Given the description of an element on the screen output the (x, y) to click on. 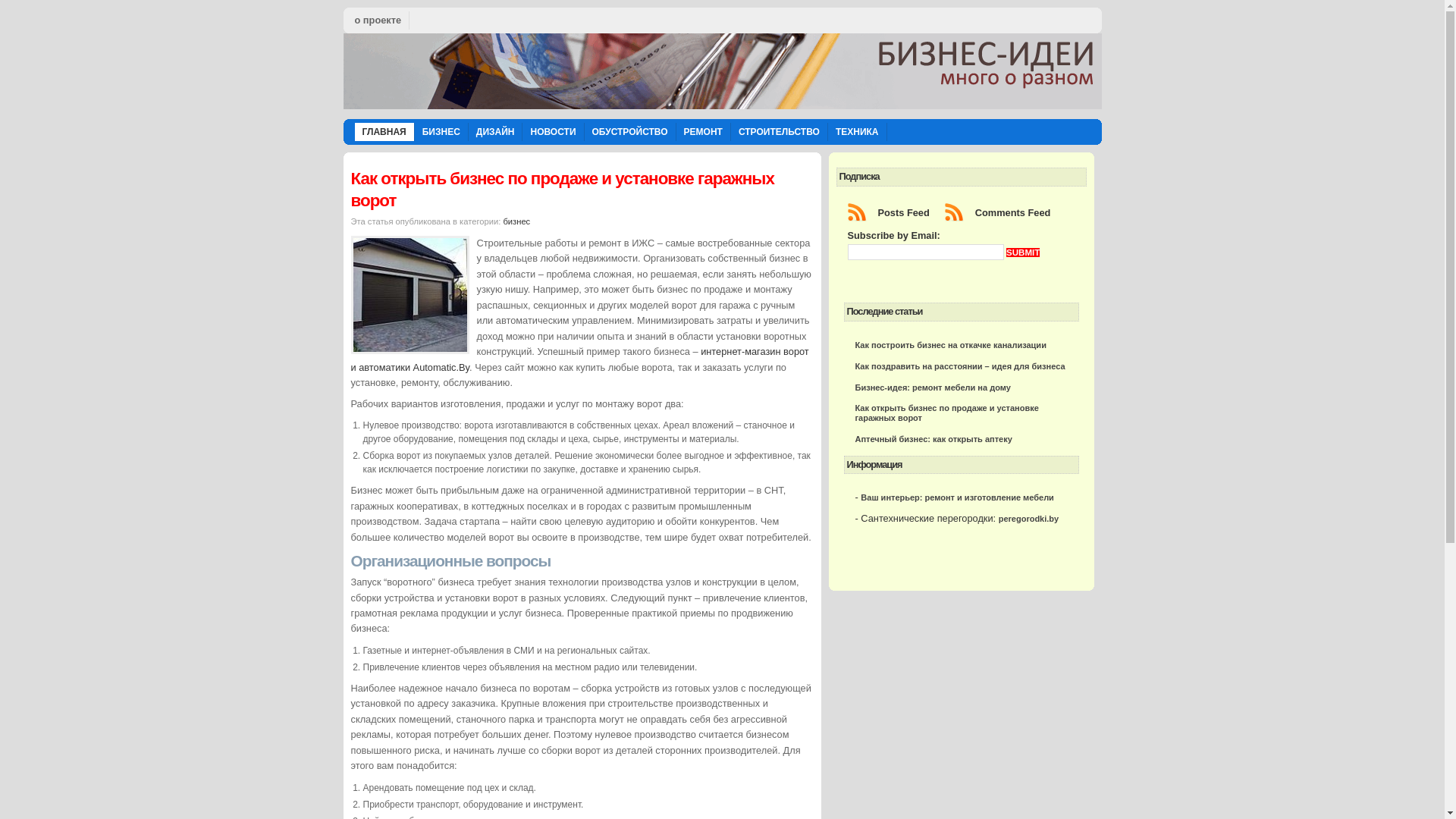
Comments Feed Element type: text (1005, 212)
peregorodki.by Element type: text (1028, 518)
Submit Element type: text (1022, 252)
Posts Feed Element type: text (895, 212)
vorota Element type: hover (409, 294)
